Given the description of an element on the screen output the (x, y) to click on. 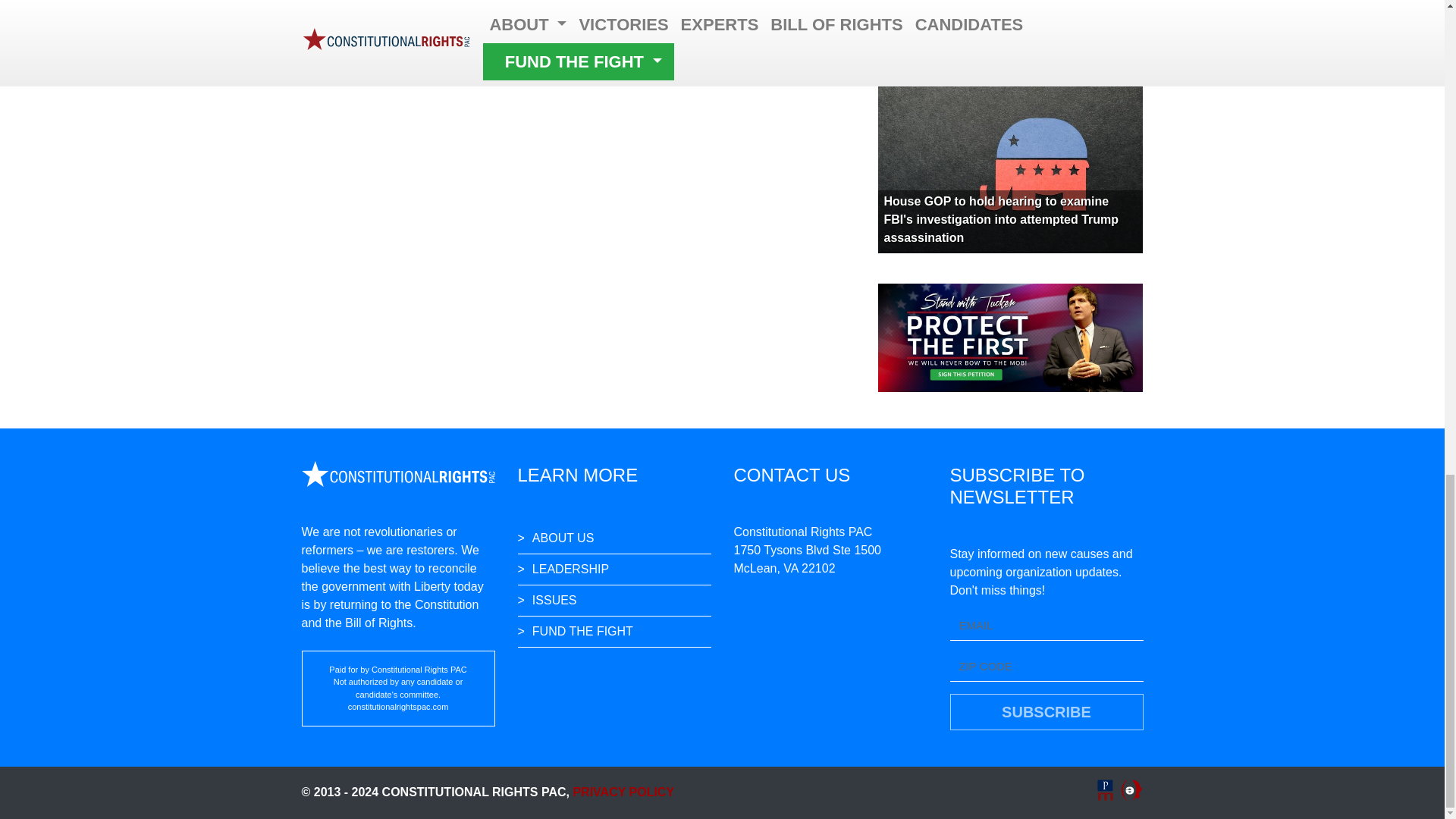
ISSUES (613, 600)
LEADERSHIP (613, 569)
ABOUT US (613, 538)
PRIVACY POLICY (623, 791)
FUND THE FIGHT (613, 631)
Larry Ward's predictions on the 2024 Election (989, 42)
SUBSCRIBE (1045, 711)
